Given the description of an element on the screen output the (x, y) to click on. 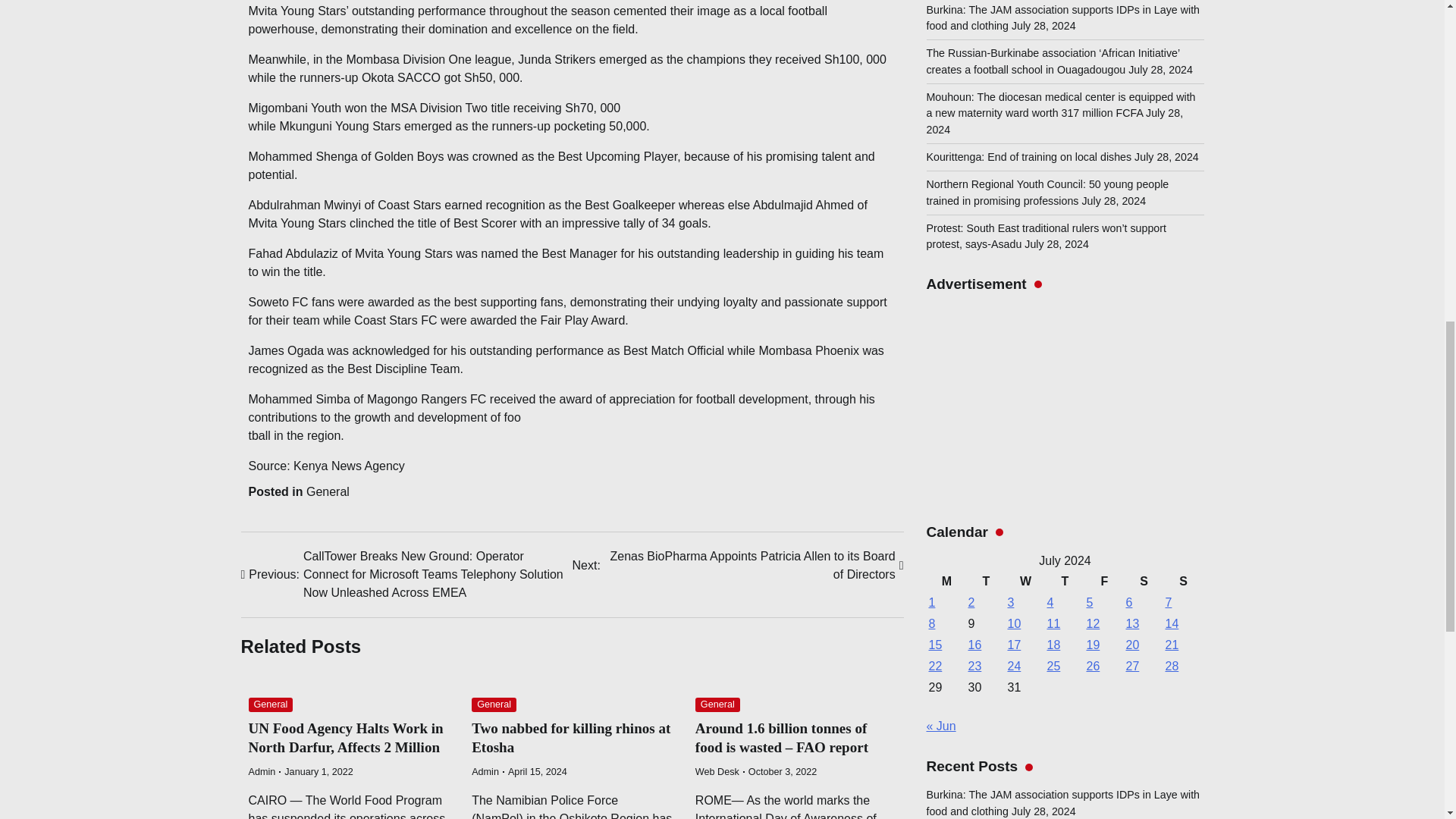
Admin (485, 771)
Wednesday (1026, 107)
UN Food Agency Halts Work in North Darfur, Affects 2 Million (346, 737)
Web Desk (717, 771)
General (327, 491)
Saturday (1144, 107)
Friday (1105, 107)
Admin (262, 771)
General (717, 704)
Sunday (1183, 107)
Tuesday (987, 107)
Thursday (1065, 107)
General (271, 704)
